Given the description of an element on the screen output the (x, y) to click on. 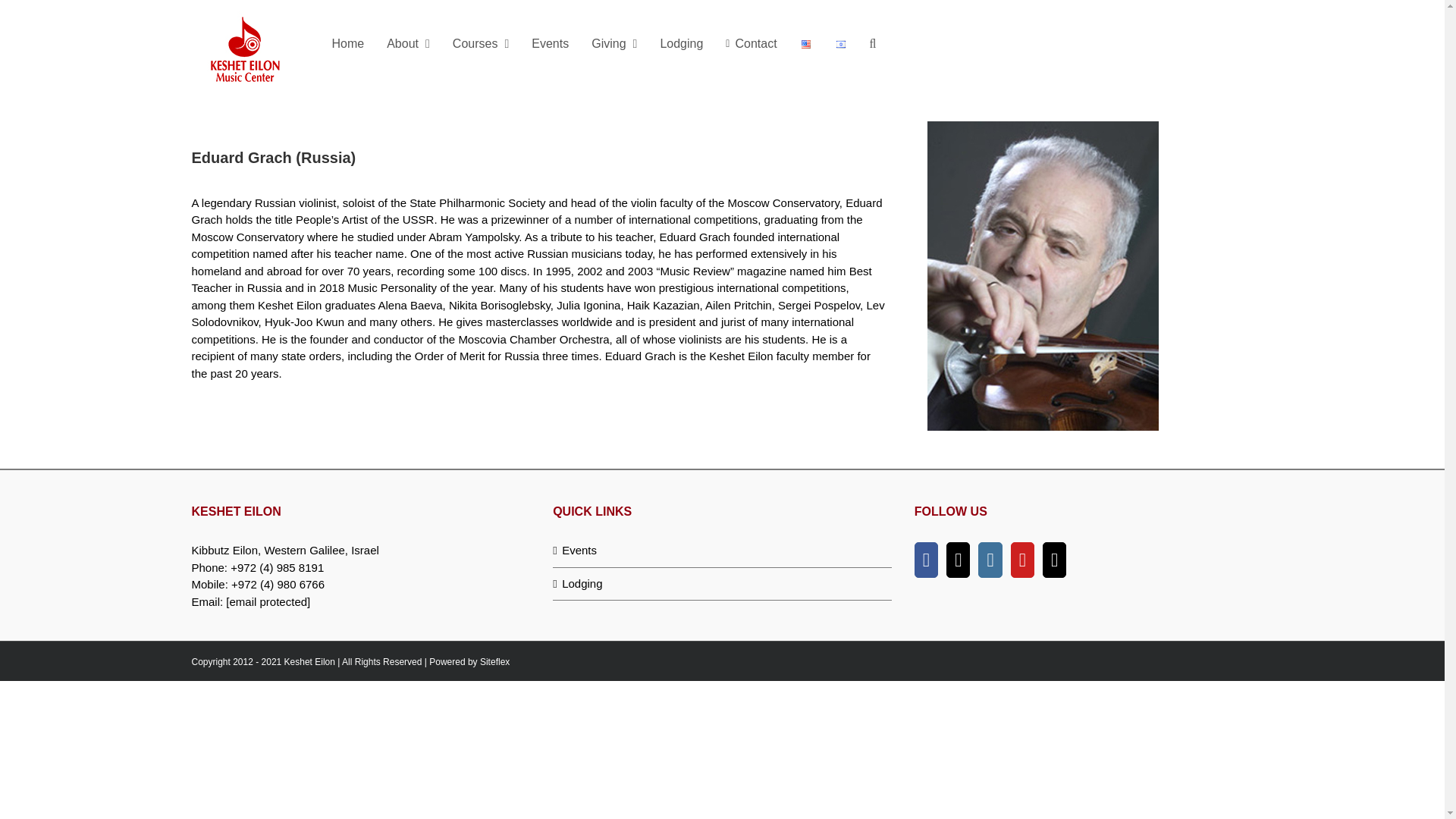
Events (722, 550)
Courses (480, 43)
Lodging (722, 583)
